Given the description of an element on the screen output the (x, y) to click on. 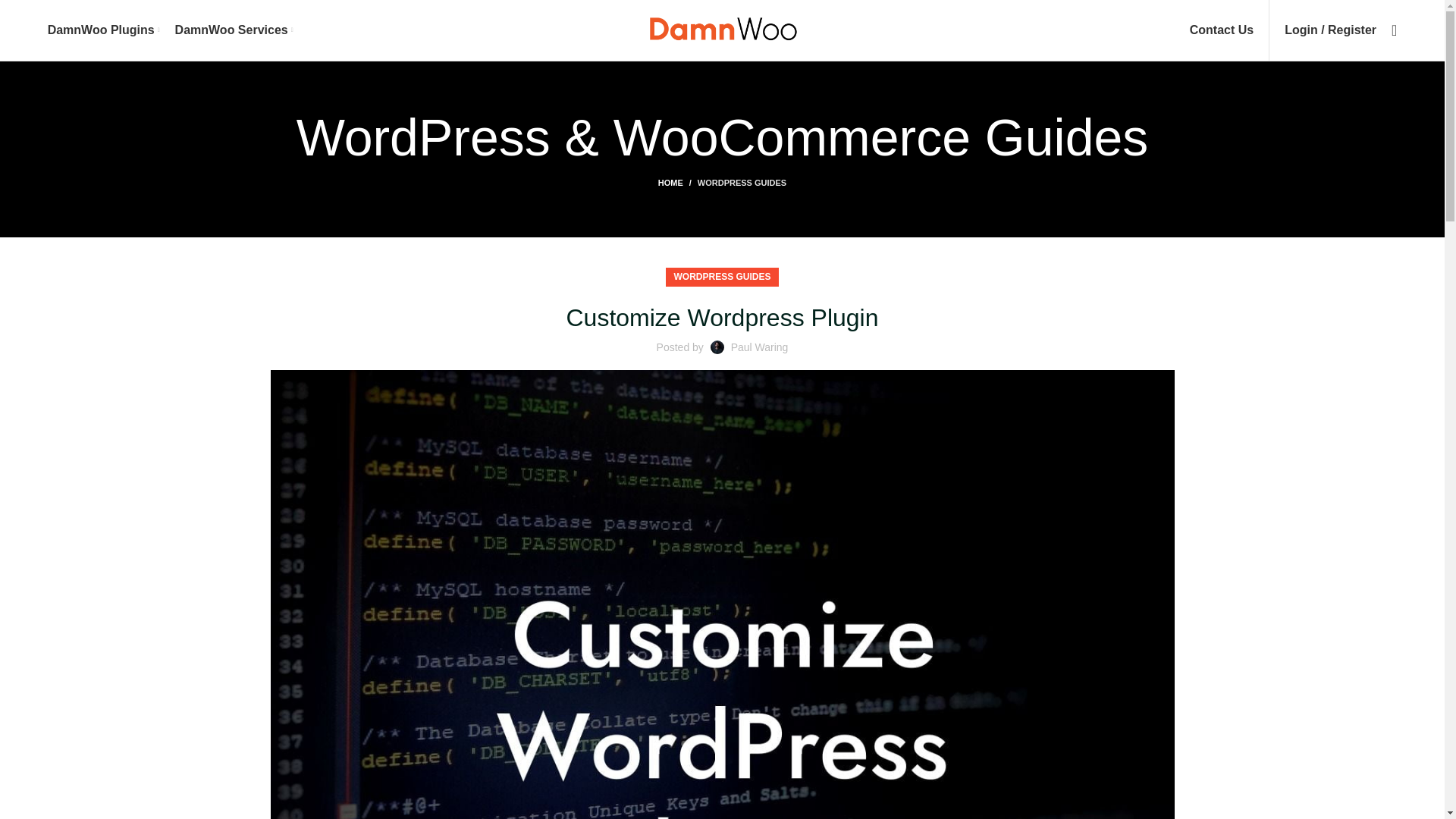
Contact Us (1221, 30)
Paul Waring (759, 346)
DamnWoo Services (234, 30)
WORDPRESS GUIDES (721, 276)
My account (1330, 30)
WORDPRESS GUIDES (741, 182)
HOME (677, 182)
DamnWoo Plugins (104, 30)
